Given the description of an element on the screen output the (x, y) to click on. 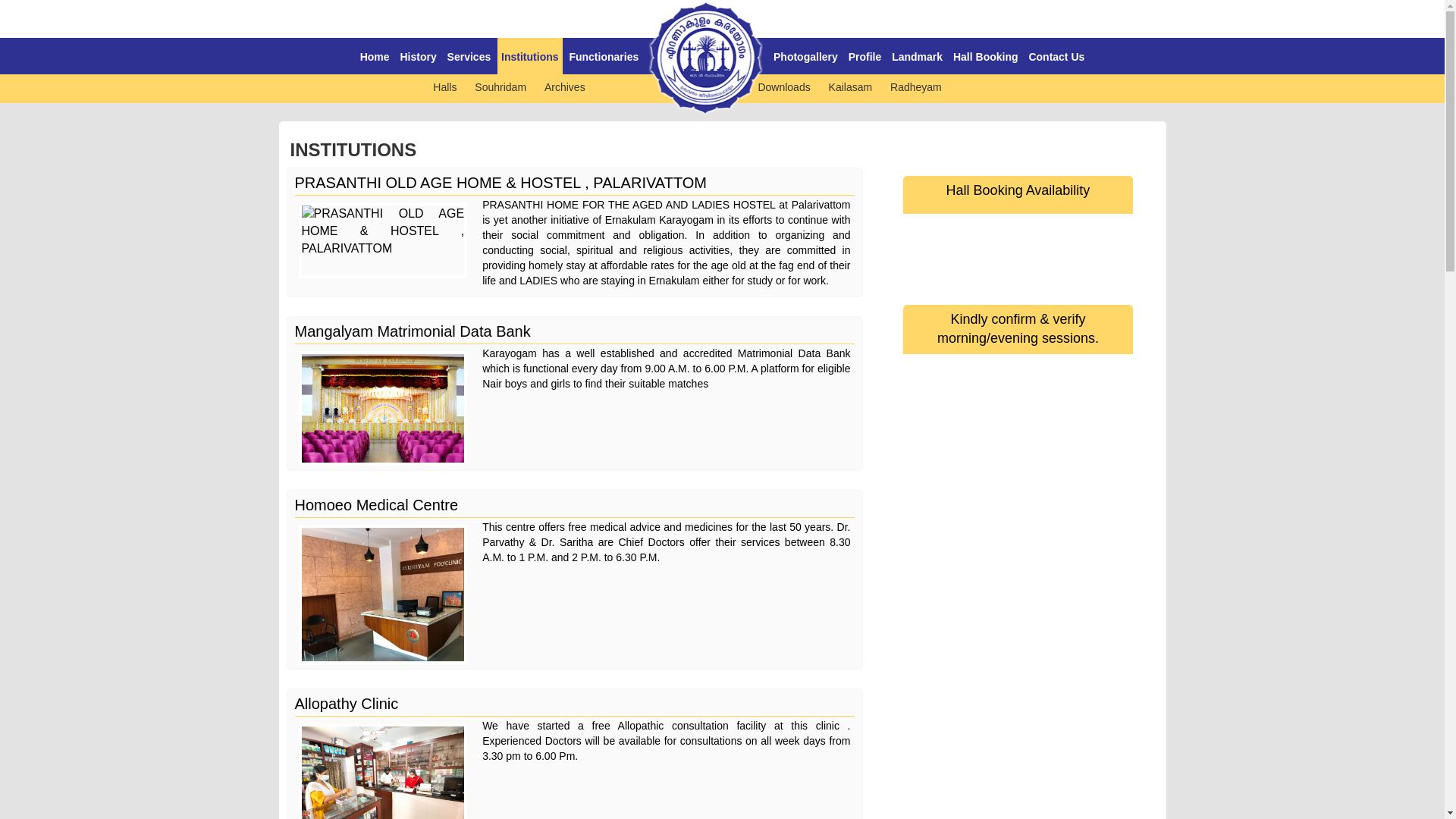
Home (374, 56)
History (417, 56)
Photogallery (805, 56)
Hall Booking (985, 56)
Archives (564, 87)
Kailasam (850, 87)
Profile (864, 56)
Landmark (917, 56)
Contact Us (1056, 56)
Functionaries (603, 56)
Souhridam (499, 87)
Radheyam (915, 87)
Institutions (529, 56)
Services (469, 56)
Downloads (783, 87)
